Given the description of an element on the screen output the (x, y) to click on. 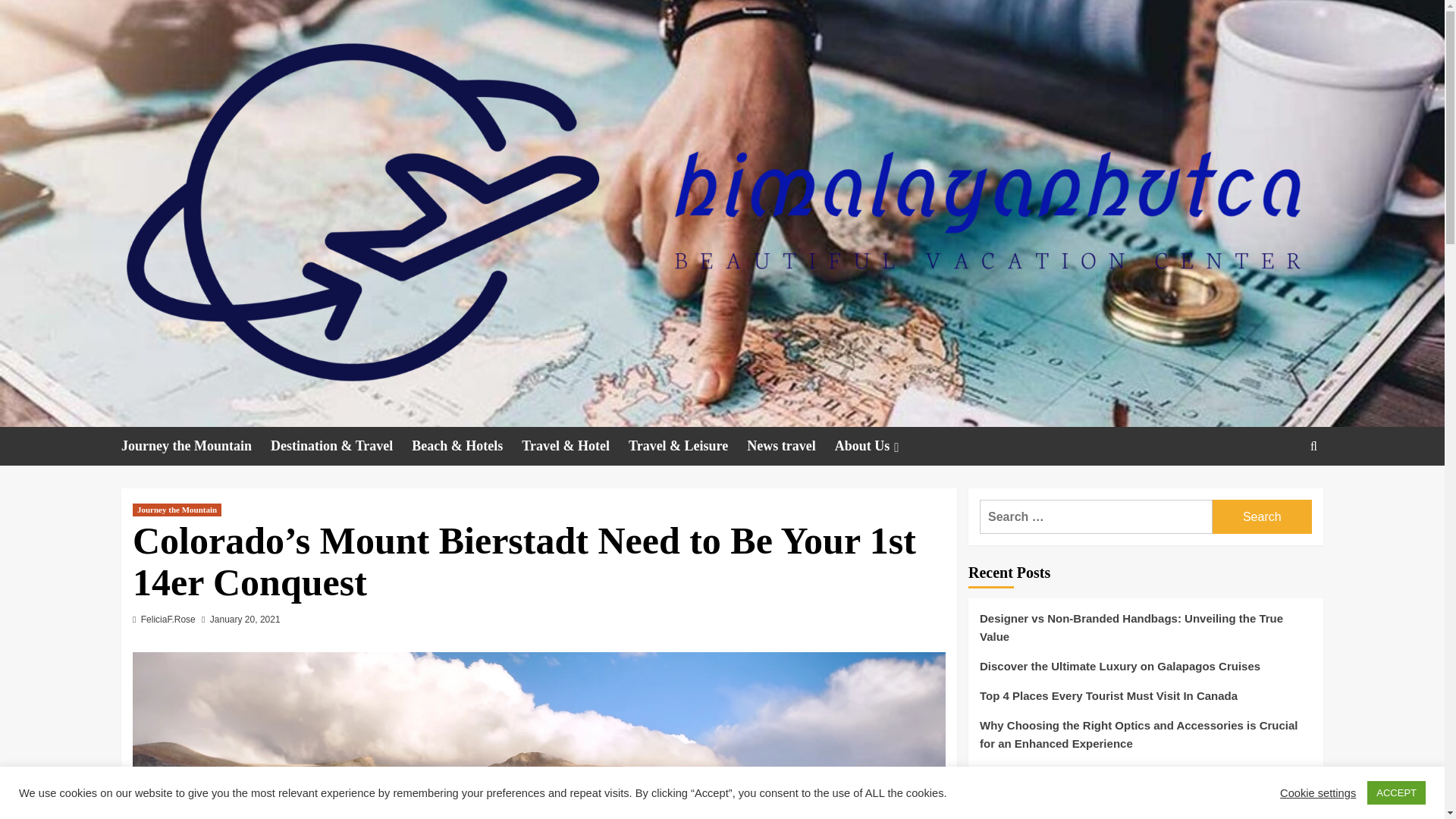
Search (1278, 492)
News travel (790, 446)
Search (1261, 516)
January 20, 2021 (245, 619)
Journey the Mountain (195, 446)
FeliciaF.Rose (168, 619)
About Us (878, 446)
Search (1261, 516)
Journey the Mountain (176, 509)
